Given the description of an element on the screen output the (x, y) to click on. 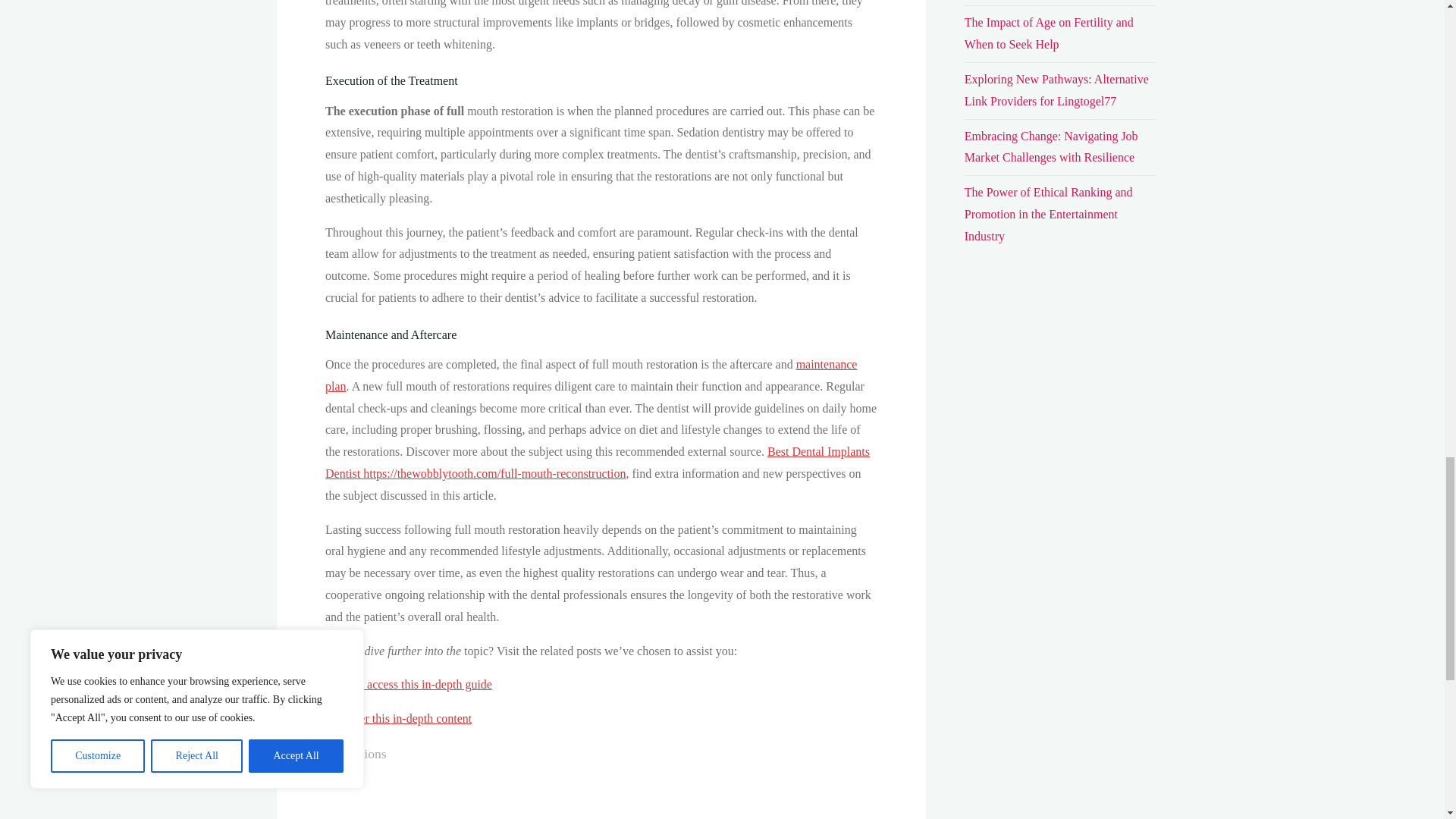
situations (359, 753)
Click to access this in-depth guide (408, 684)
maintenance plan (590, 375)
Discover this in-depth content (397, 717)
